Given the description of an element on the screen output the (x, y) to click on. 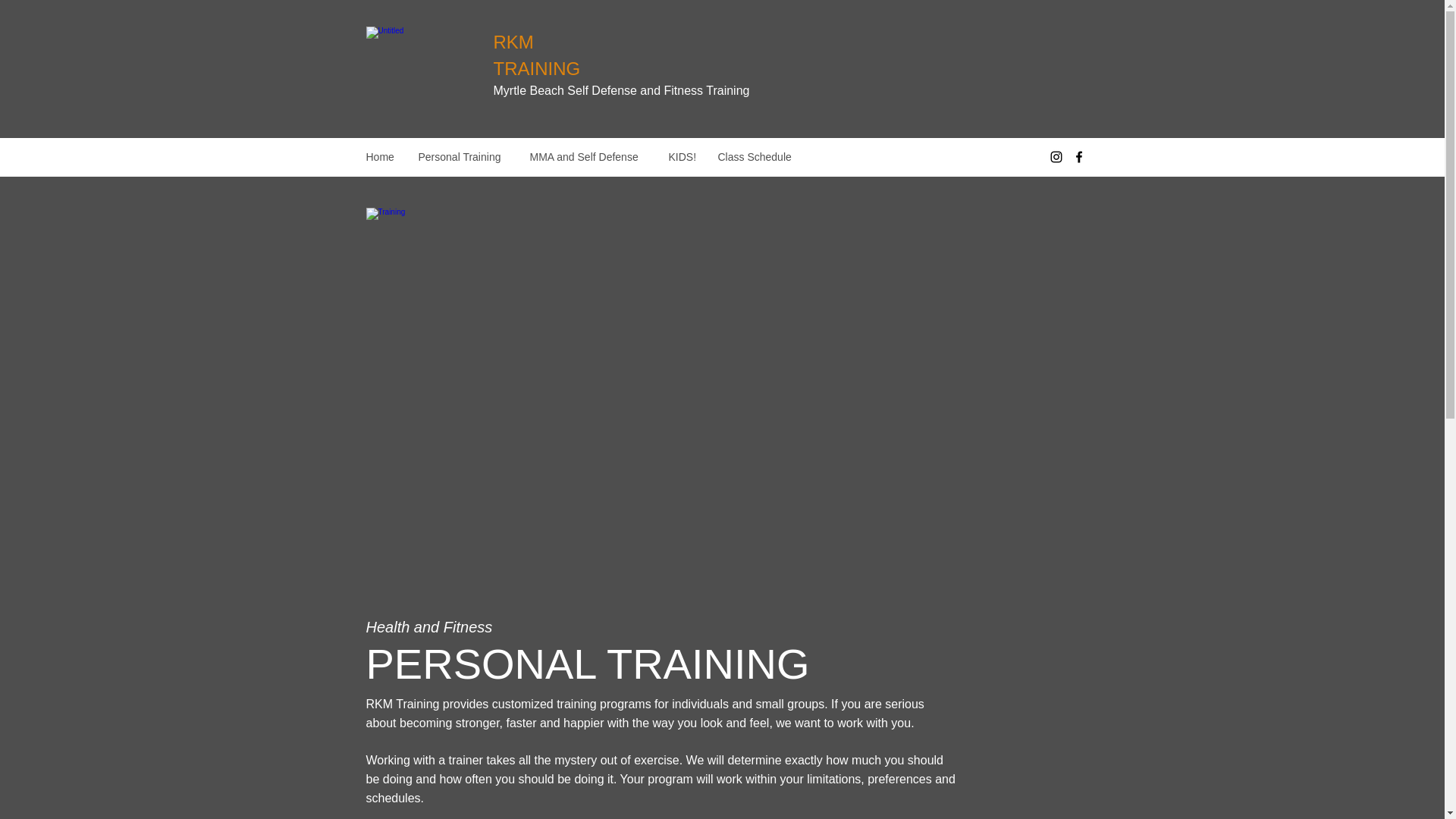
Home (381, 156)
Personal Training (462, 156)
KIDS! (681, 156)
Class Schedule (756, 156)
MMA and Self Defense (588, 156)
